Given the description of an element on the screen output the (x, y) to click on. 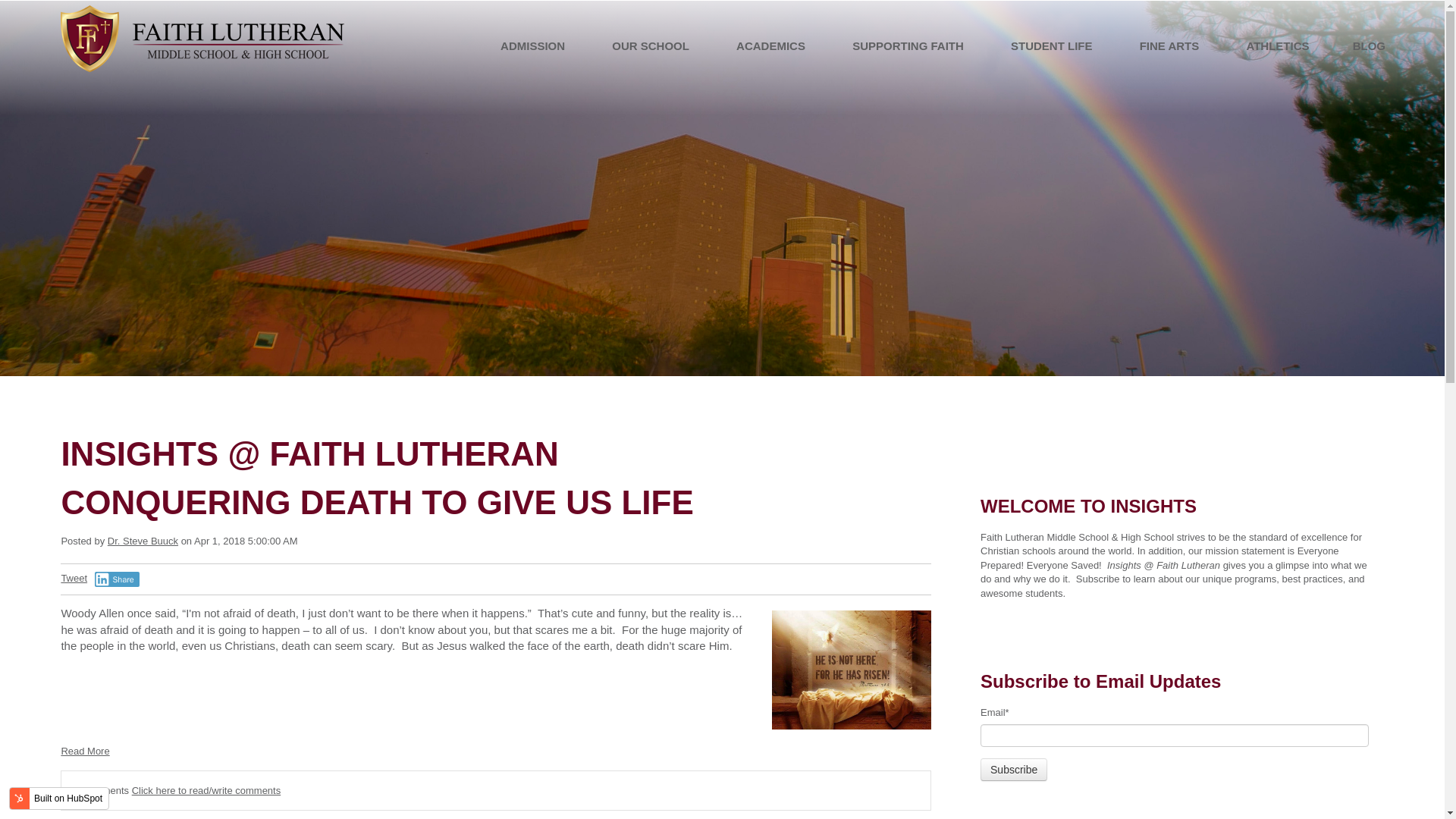
Subscribe (1012, 769)
ACADEMICS (770, 45)
OUR SCHOOL (650, 45)
SUPPORTING FAITH (908, 45)
Faith Lutheran High School (202, 38)
ADMISSION (534, 45)
